Given the description of an element on the screen output the (x, y) to click on. 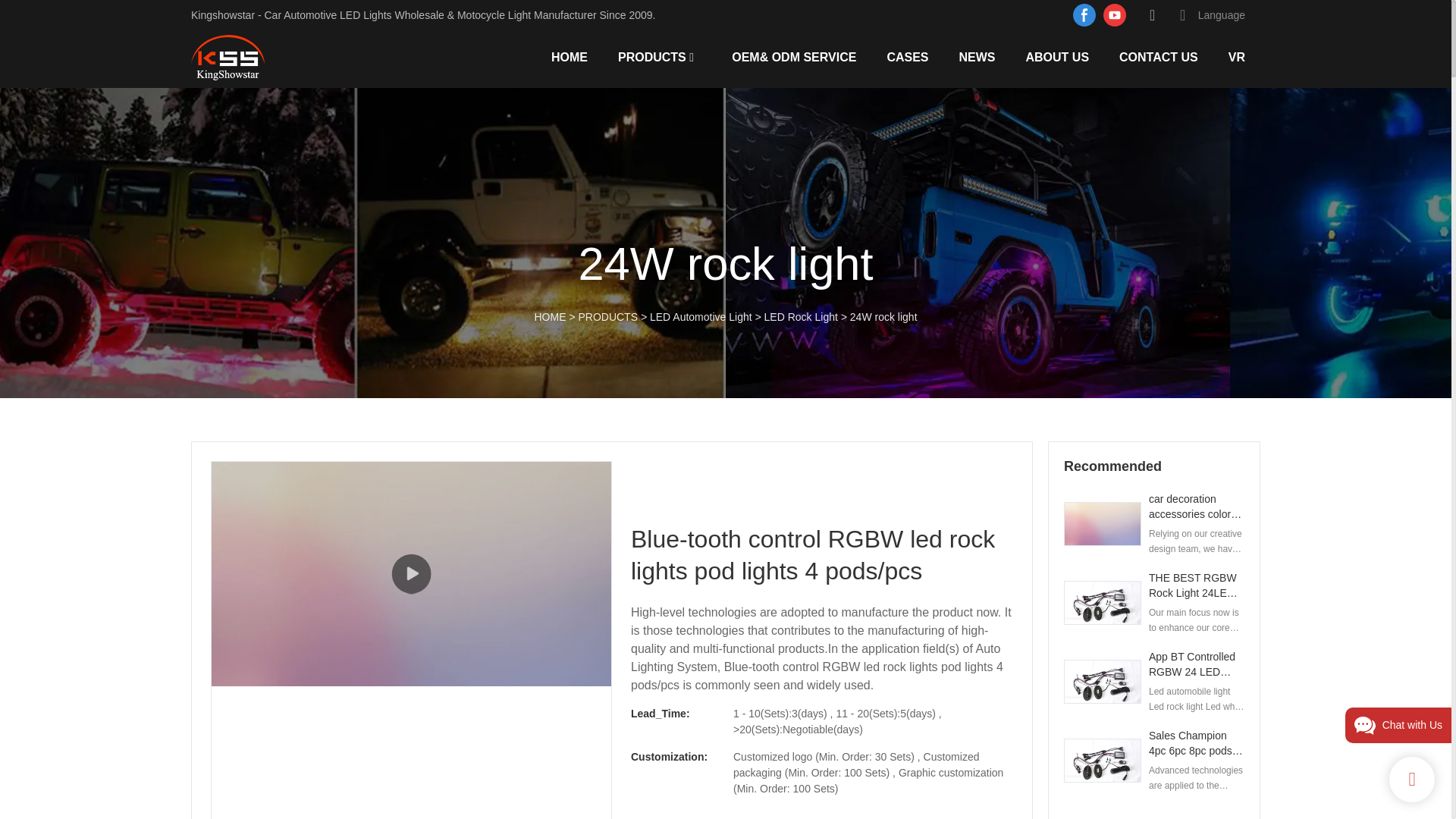
youtube (1114, 15)
PRODUCTS (651, 56)
HOME (569, 56)
facebook (1083, 15)
